Given the description of an element on the screen output the (x, y) to click on. 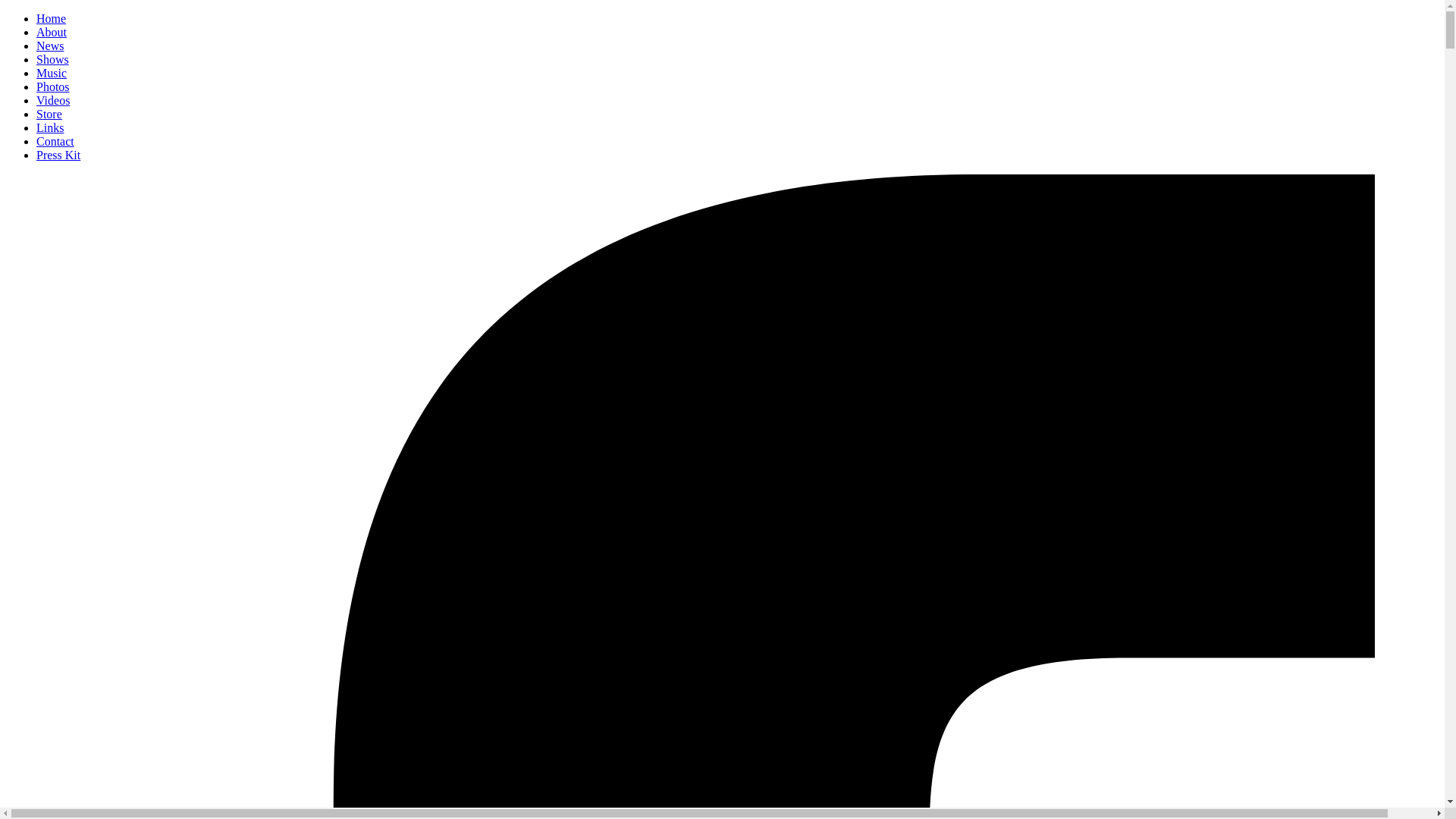
Links Element type: text (49, 127)
Store Element type: text (49, 113)
Contact Element type: text (55, 140)
News Element type: text (49, 45)
About Element type: text (51, 31)
Press Kit Element type: text (58, 154)
Music Element type: text (51, 72)
Home Element type: text (50, 18)
Videos Element type: text (52, 100)
Shows Element type: text (52, 59)
Photos Element type: text (52, 86)
